Given the description of an element on the screen output the (x, y) to click on. 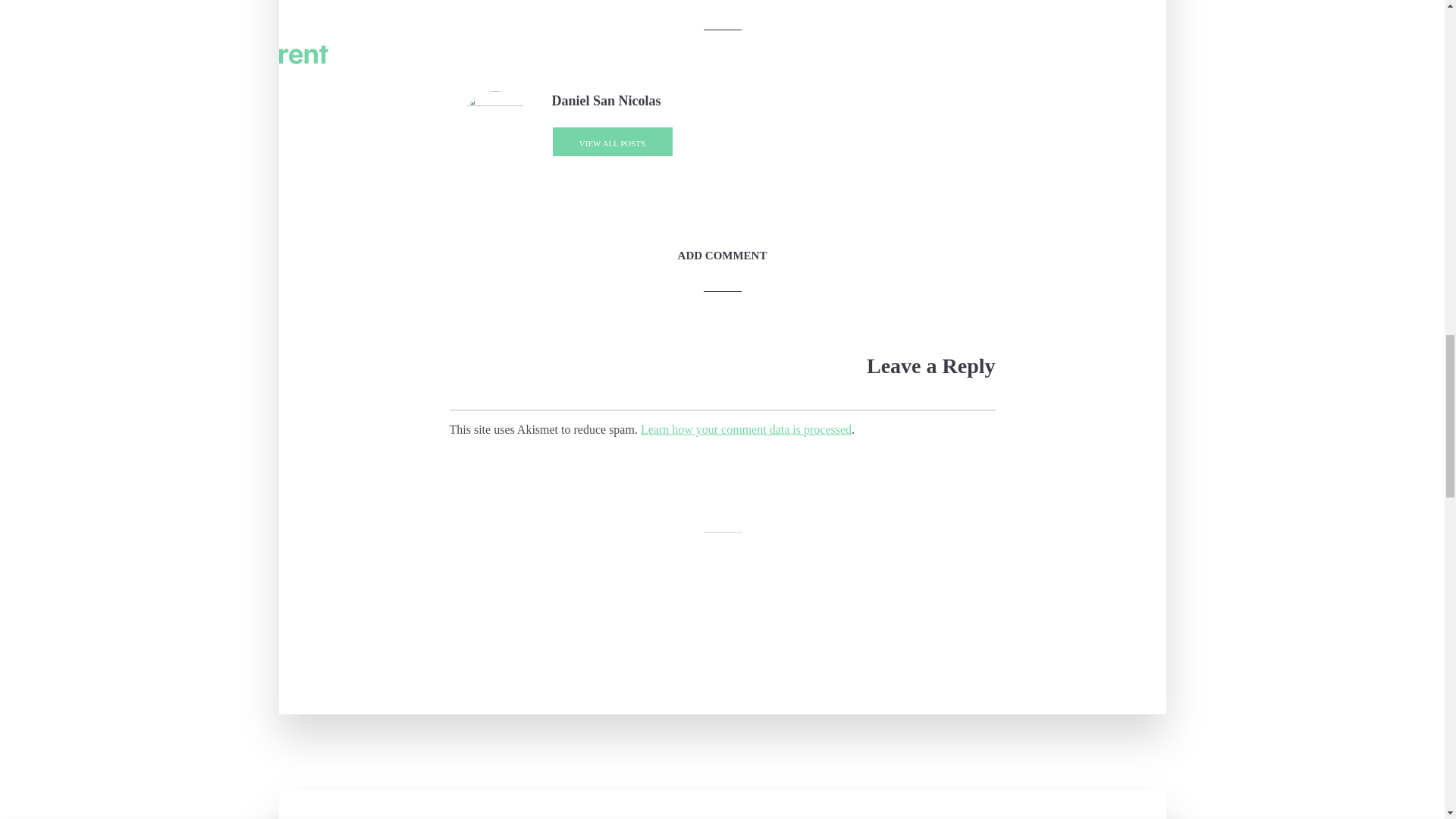
VIEW ALL POSTS (611, 141)
Learn how your comment data is processed (745, 429)
